Given the description of an element on the screen output the (x, y) to click on. 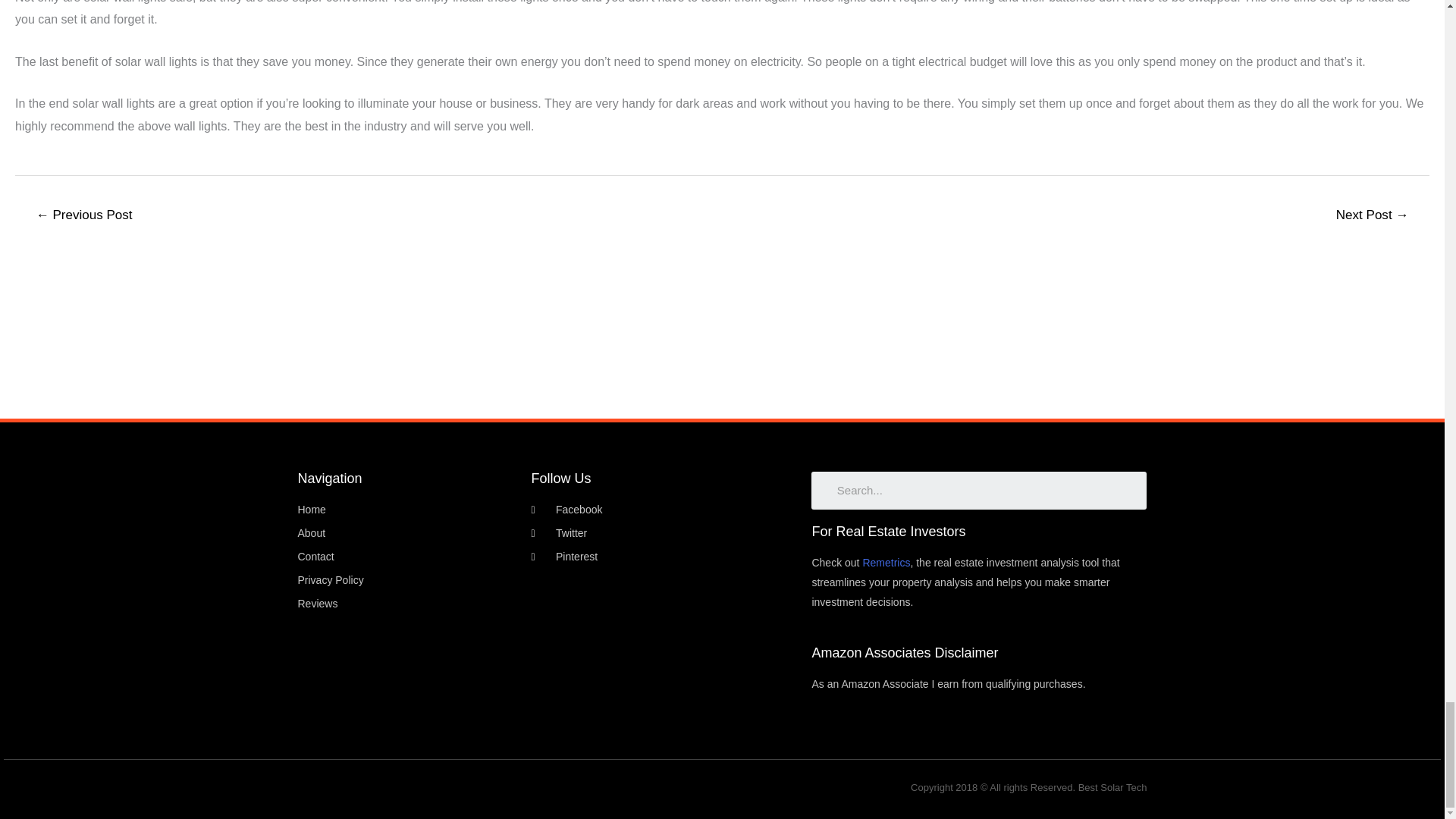
Search (985, 490)
